Given the description of an element on the screen output the (x, y) to click on. 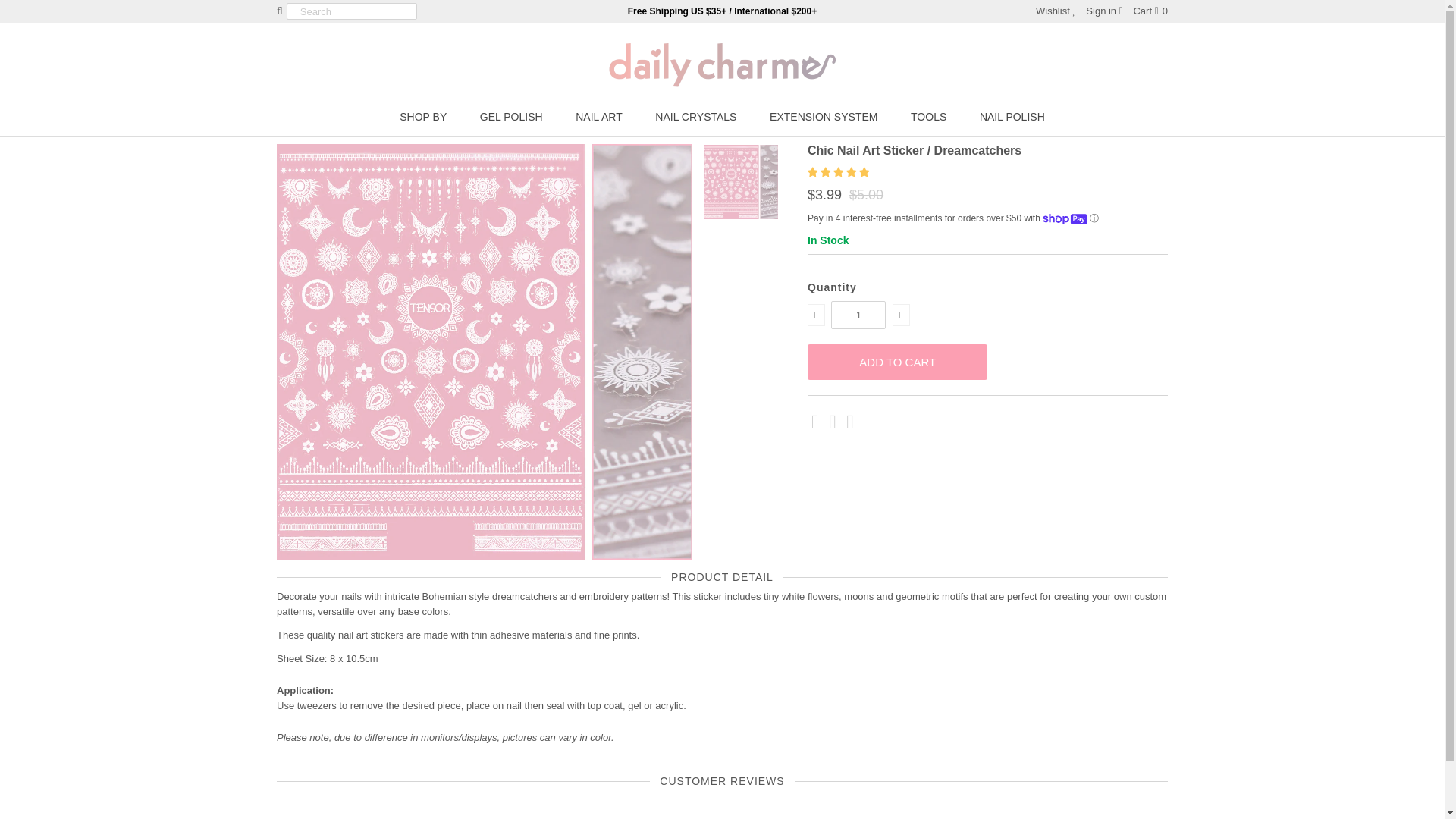
1 (858, 315)
Wishlist (1055, 10)
Cart 0 (1149, 10)
Add to Cart (897, 361)
Sign in (1104, 10)
